Given the description of an element on the screen output the (x, y) to click on. 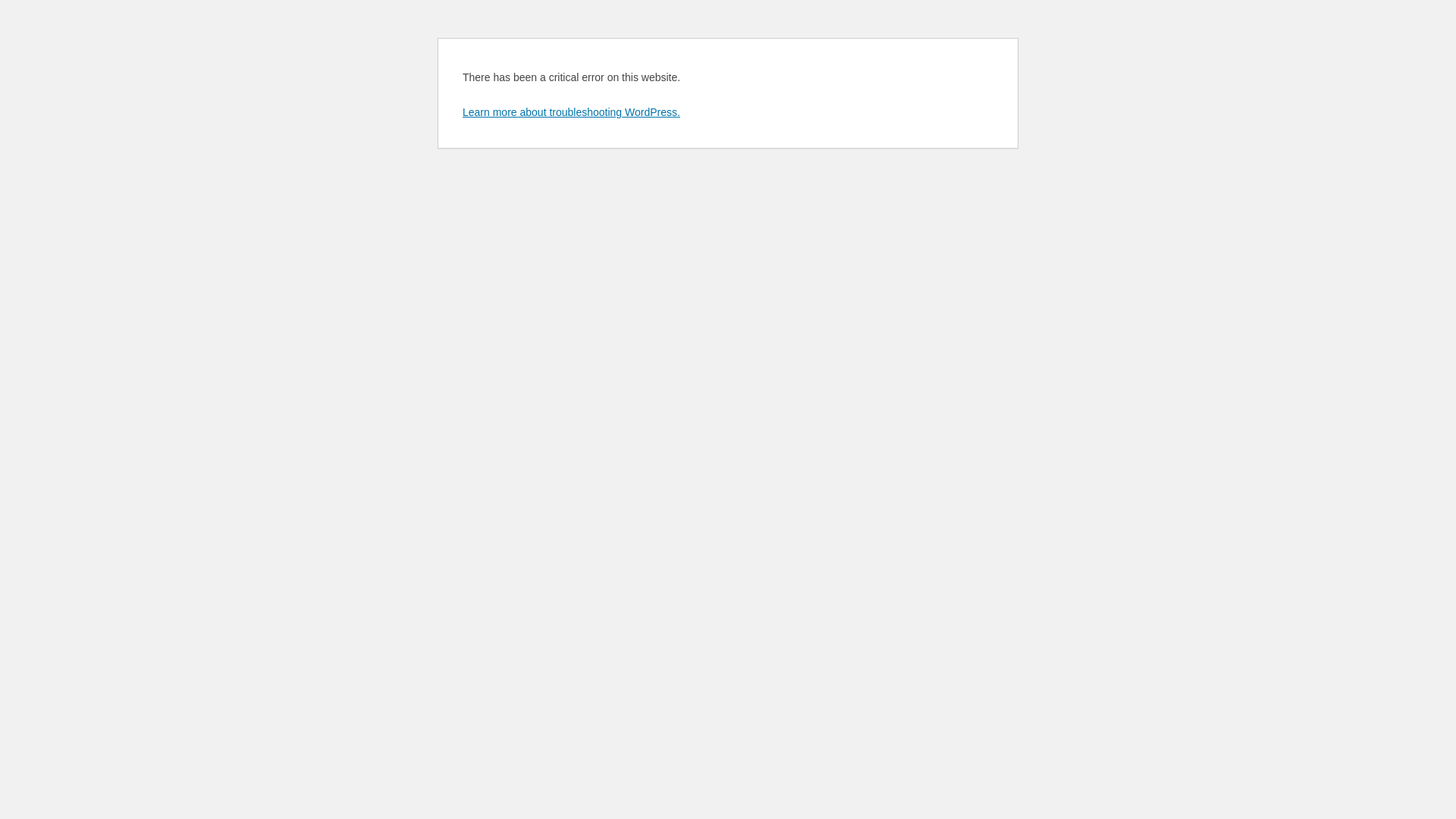
Learn more about troubleshooting WordPress. Element type: text (571, 112)
